Given the description of an element on the screen output the (x, y) to click on. 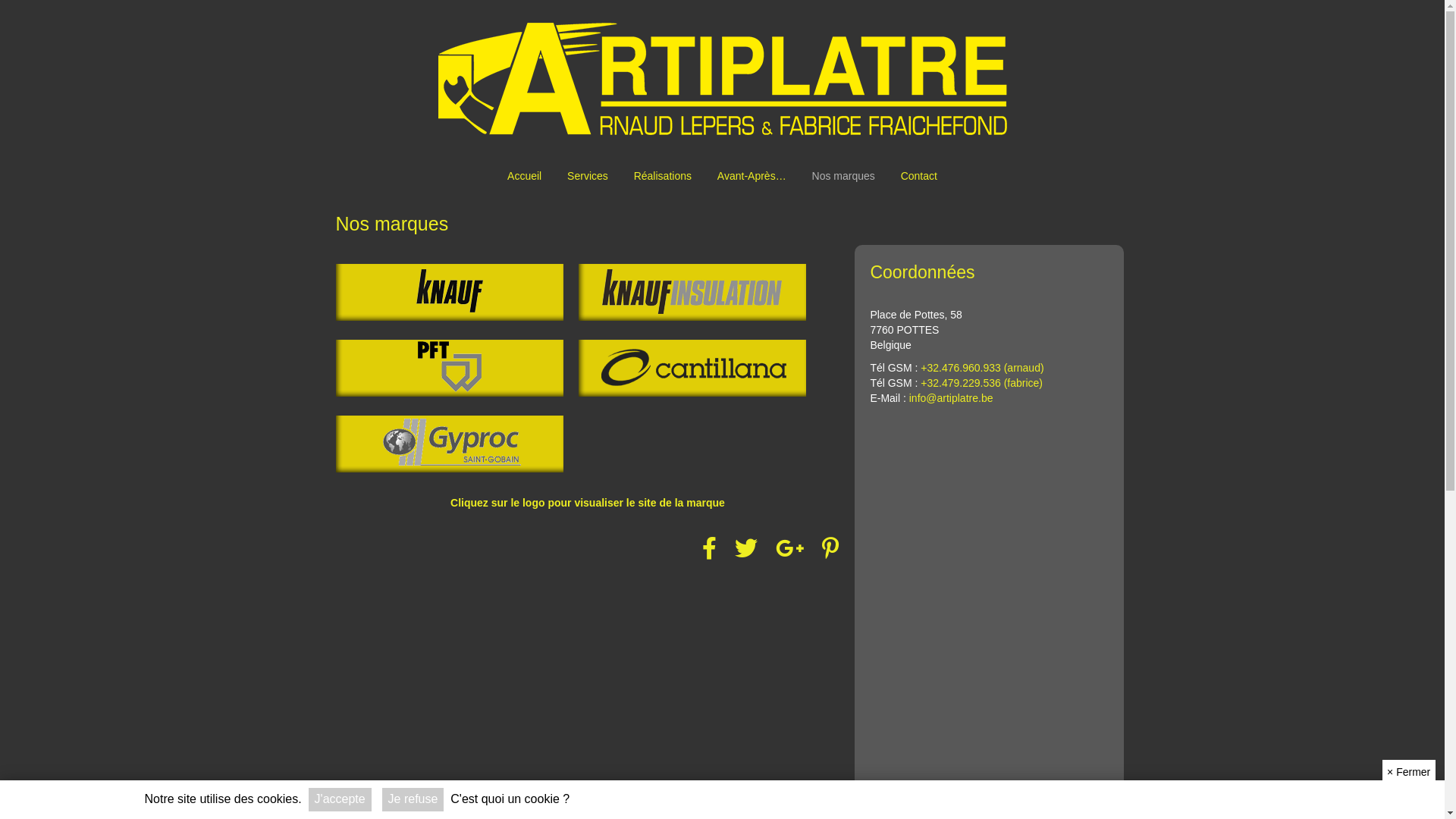
Services Element type: text (587, 176)
J'accepte Element type: text (339, 799)
Accueil Element type: text (523, 176)
+32.479.229.536 (fabrice) Element type: text (981, 382)
C'est quoi un cookie ? Element type: text (509, 799)
Je refuse Element type: text (413, 799)
Nos marques Element type: text (843, 176)
+32.476.960.933 (arnaud) Element type: text (981, 367)
info@artiplatre.be Element type: text (951, 398)
Contact Element type: text (918, 176)
